Given the description of an element on the screen output the (x, y) to click on. 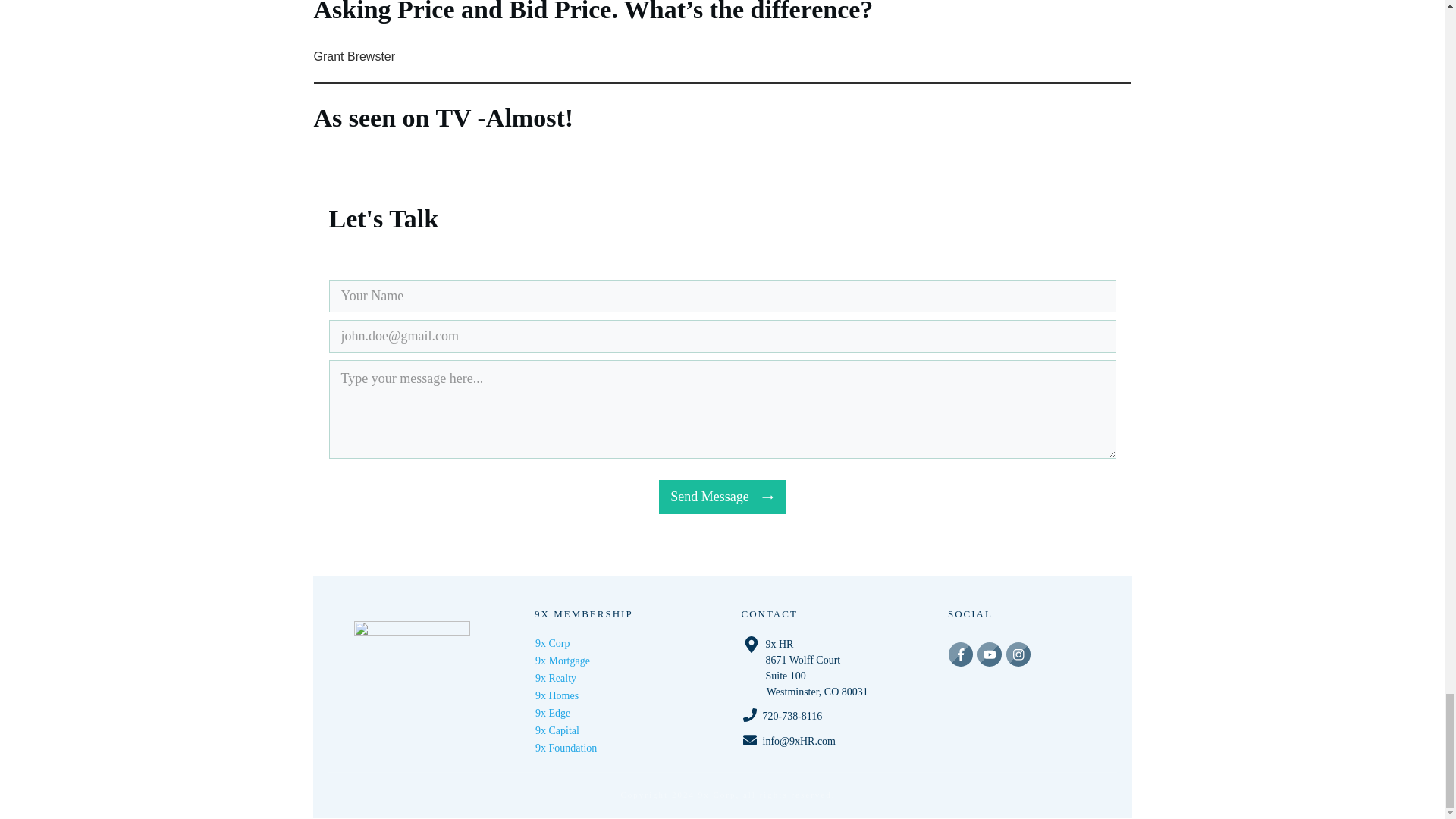
9x Homes (556, 695)
9x Corp (552, 643)
9x Foundation (565, 747)
9x Mortgage (562, 660)
As seen on TV -Almost! (722, 100)
9x Capital (557, 730)
WHITE 9x LOGO TRANSPARANT copy (411, 677)
9x Realty (555, 677)
9x Edge (552, 713)
Send Message (721, 497)
